Given the description of an element on the screen output the (x, y) to click on. 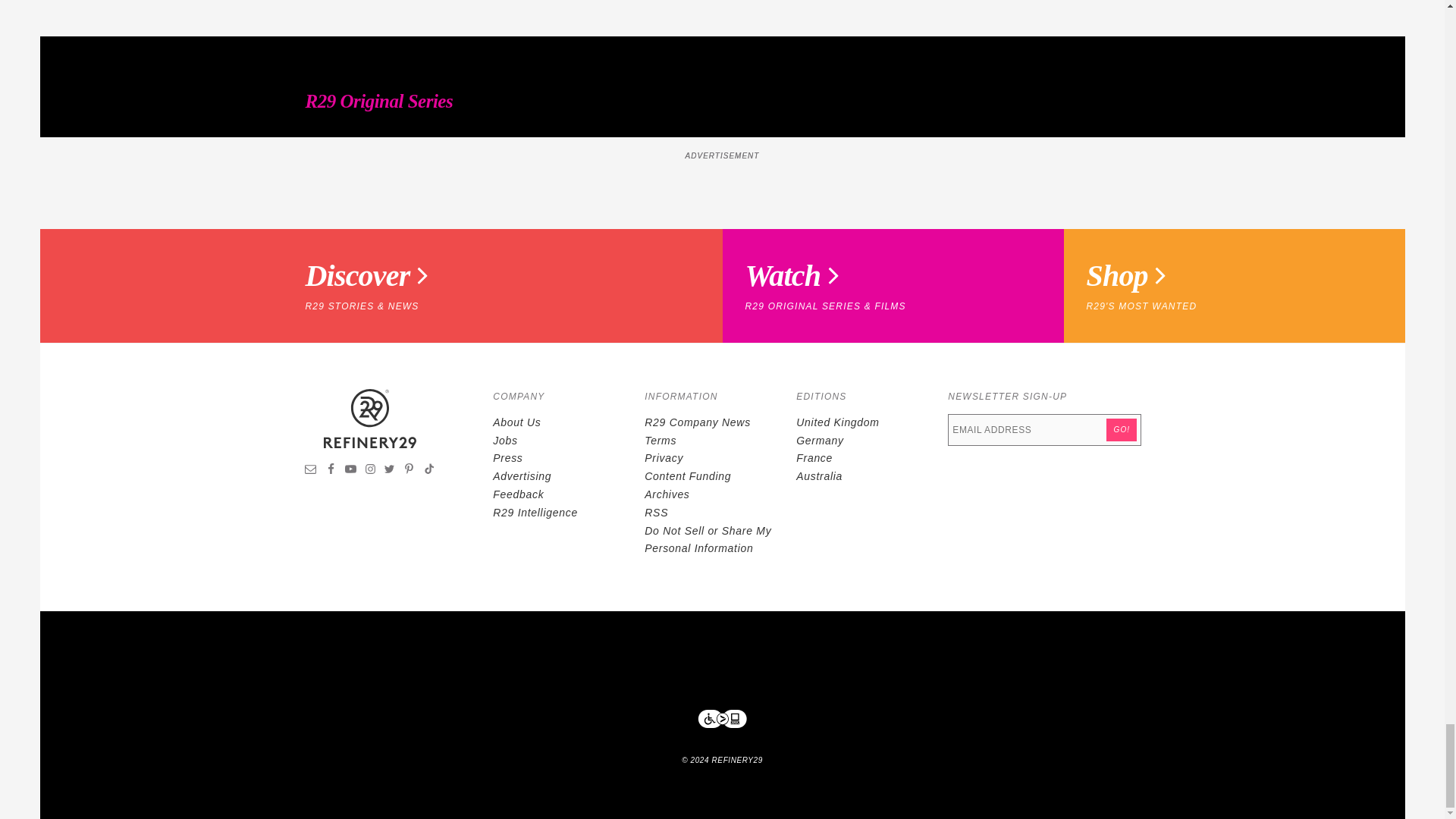
Visit Refinery29 on YouTube (350, 470)
Sign up for newsletters (310, 470)
Visit Refinery29 on TikTok (428, 470)
